Given the description of an element on the screen output the (x, y) to click on. 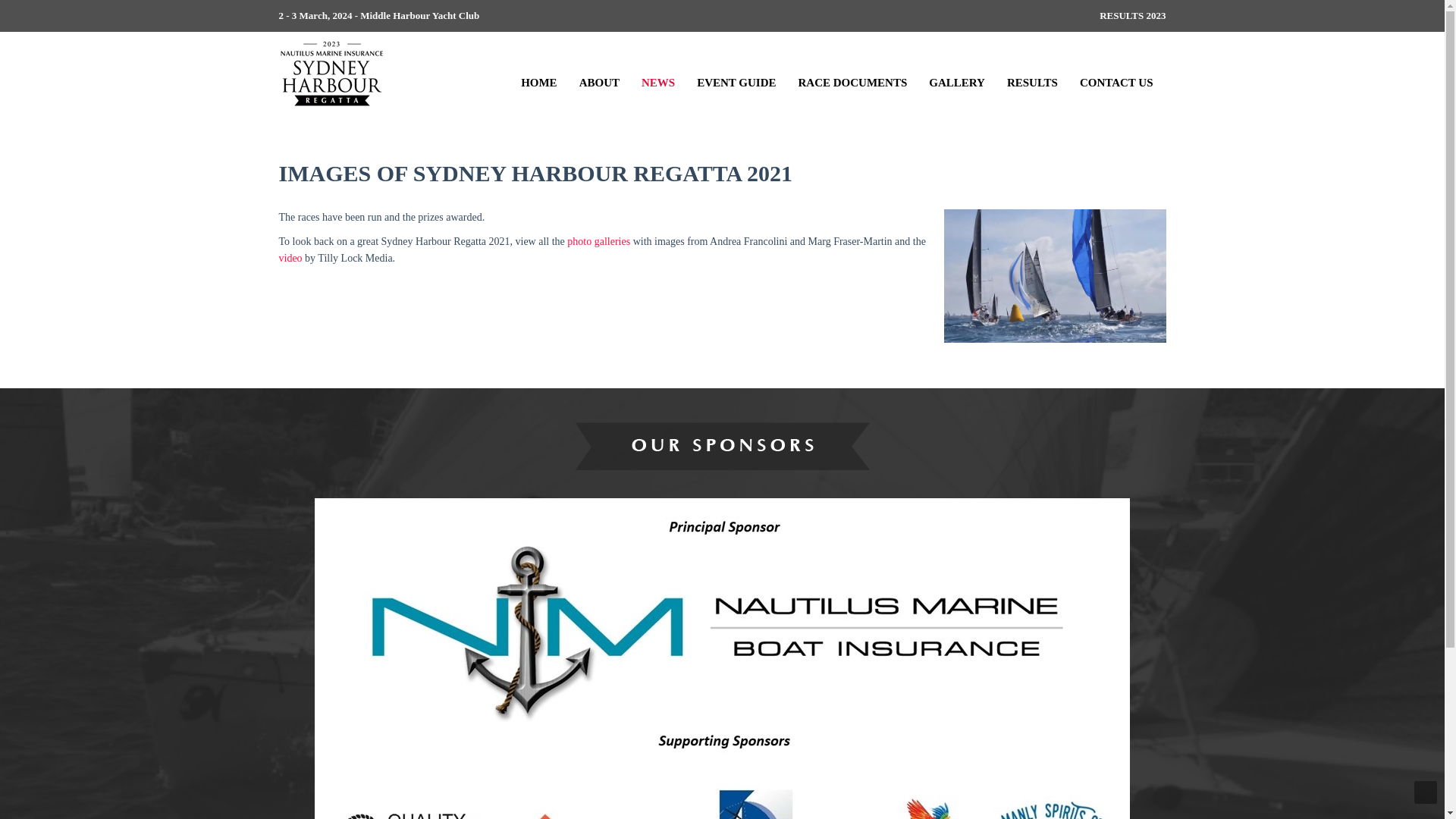
NEWS Element type: text (658, 73)
RACE DOCUMENTS Element type: text (852, 73)
photo galleries Element type: text (598, 241)
Goto Top Element type: hover (1425, 792)
ABOUT Element type: text (599, 73)
RESULTS Element type: text (1031, 73)
EVENT GUIDE Element type: text (735, 73)
CONTACT US Element type: text (1116, 73)
HOME Element type: text (538, 73)
RESULTS 2023 Element type: text (1132, 15)
GALLERY Element type: text (956, 73)
video Element type: text (290, 257)
